Given the description of an element on the screen output the (x, y) to click on. 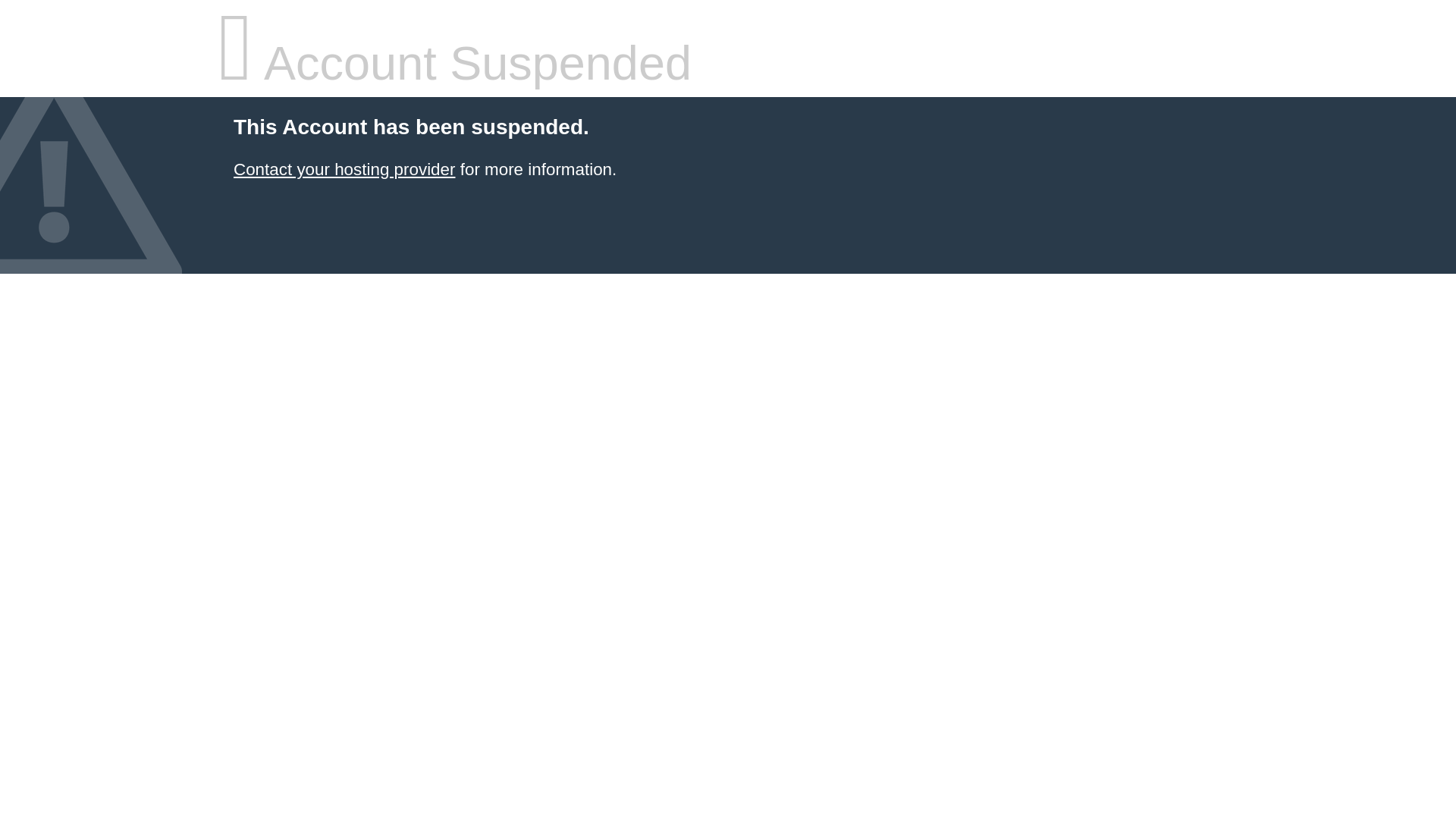
Contact your hosting provider Element type: text (344, 169)
